Given the description of an element on the screen output the (x, y) to click on. 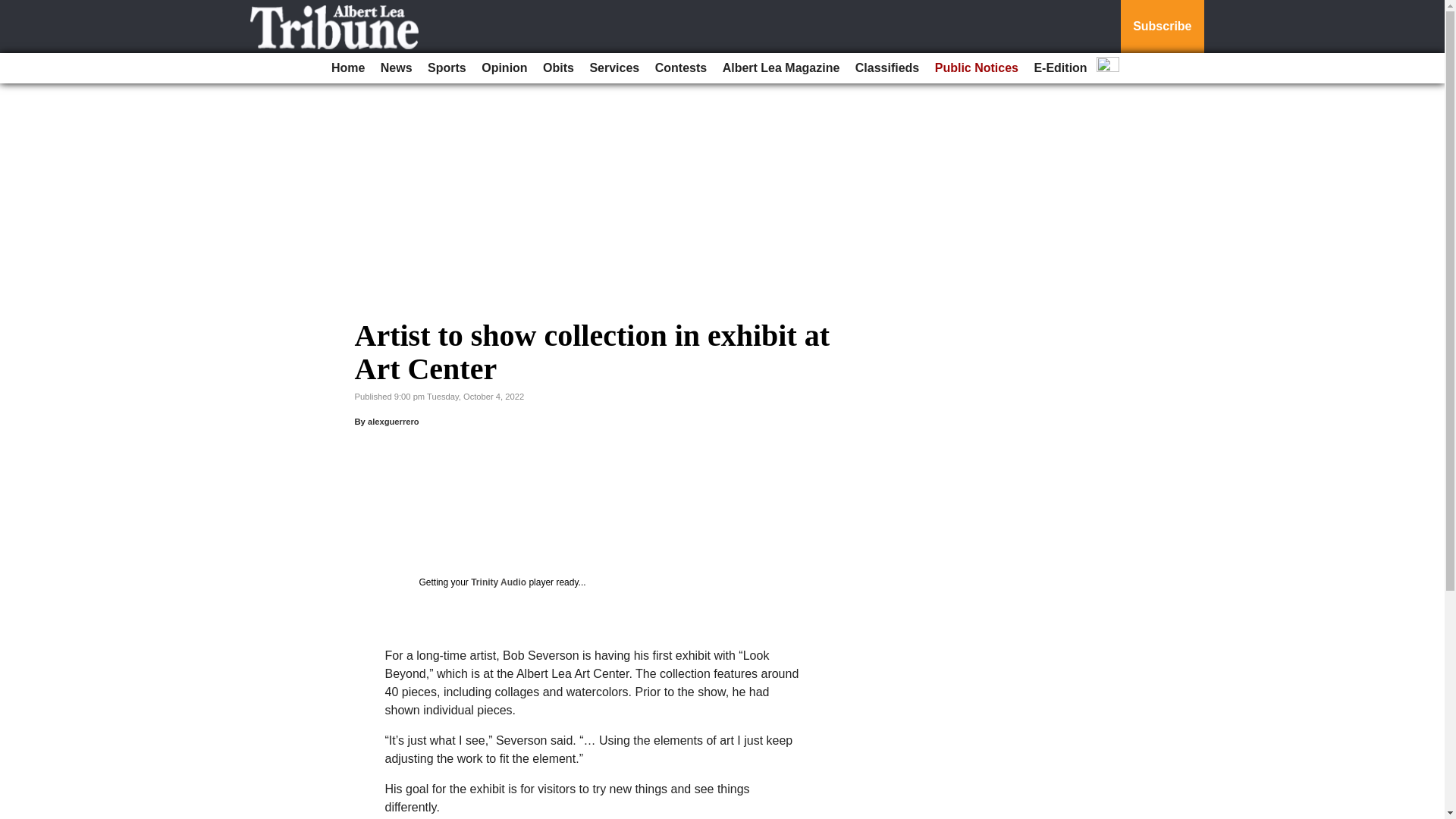
Sports (446, 68)
News (396, 68)
Services (614, 68)
Home (347, 68)
Obits (558, 68)
Subscribe (1162, 26)
Opinion (504, 68)
